Given the description of an element on the screen output the (x, y) to click on. 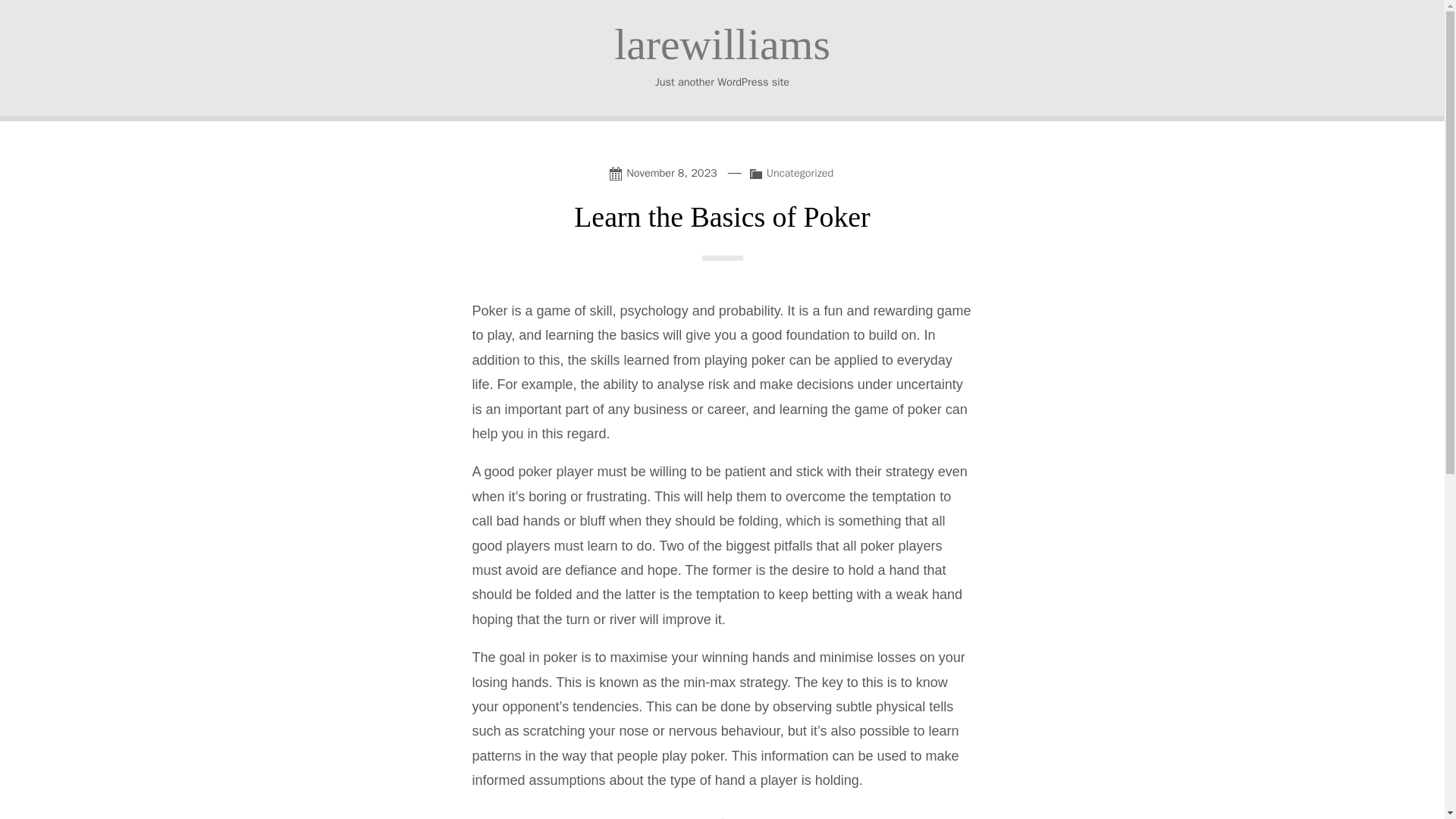
Uncategorized (800, 172)
larewilliams (721, 43)
